Given the description of an element on the screen output the (x, y) to click on. 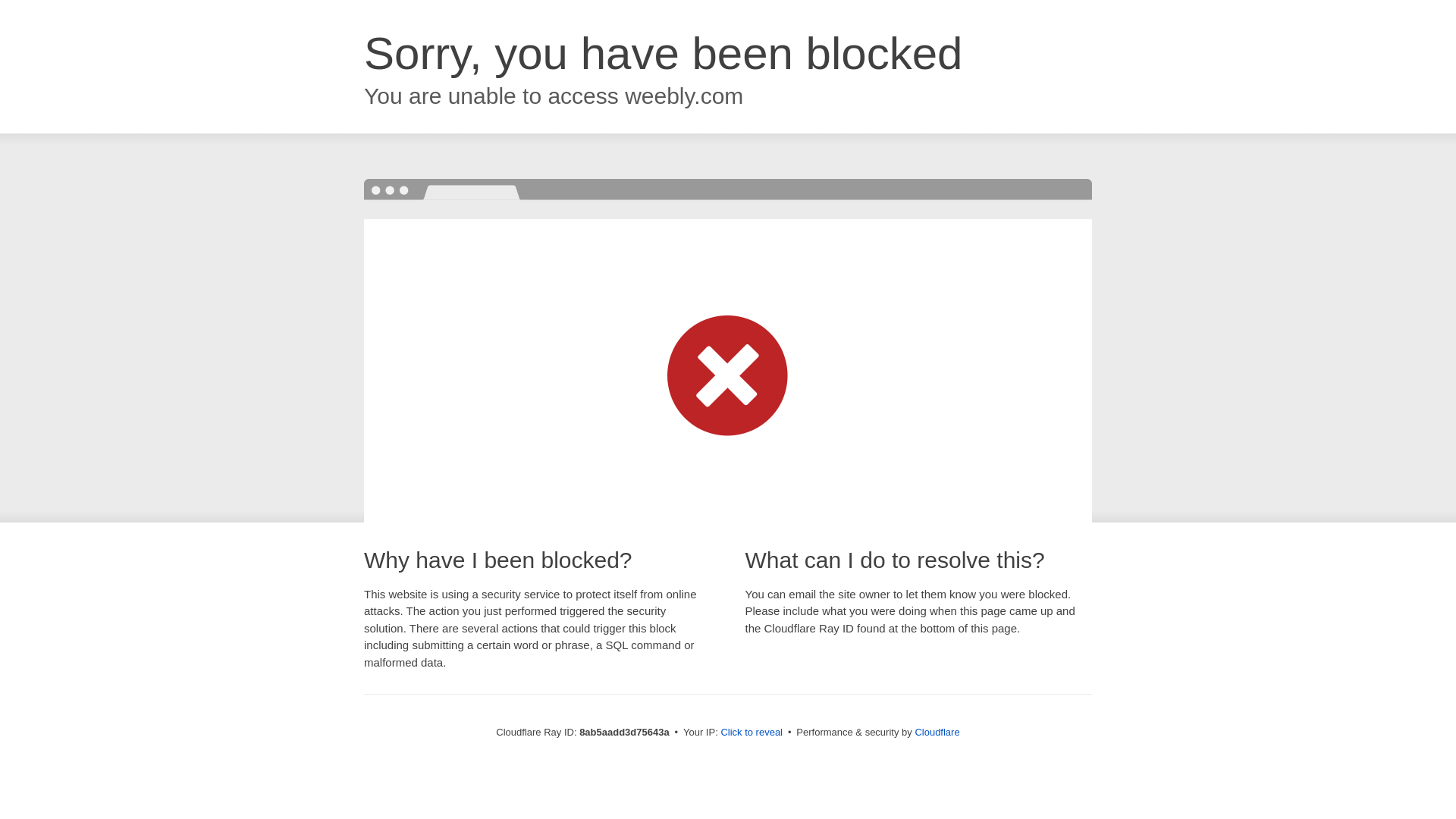
Cloudflare (936, 731)
Click to reveal (751, 732)
